Given the description of an element on the screen output the (x, y) to click on. 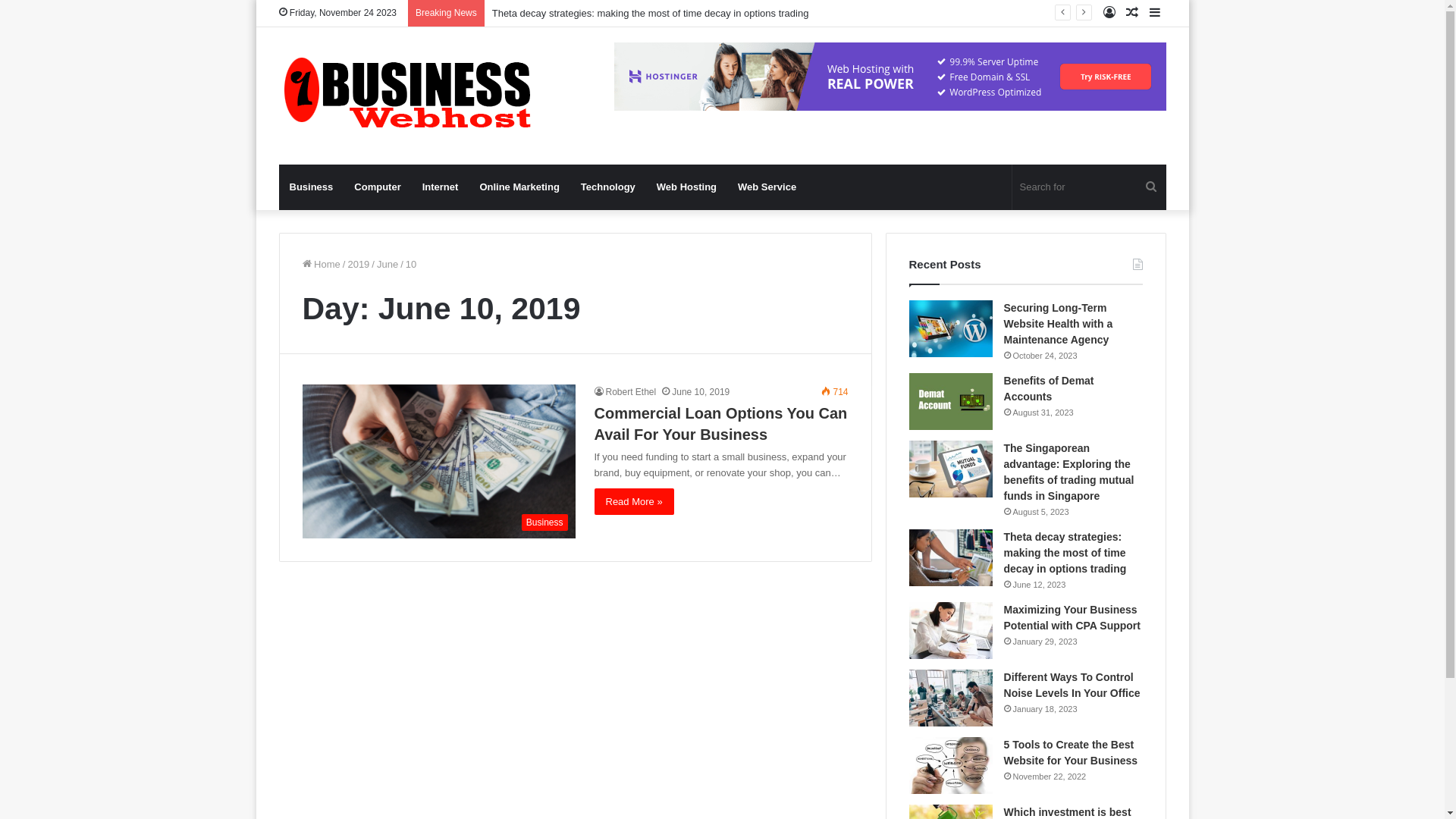
Web Service Element type: text (766, 187)
Sidebar Element type: text (1154, 13)
Internet Element type: text (440, 187)
Web Hosting Element type: text (686, 187)
Business Element type: text (437, 461)
Search for Element type: text (1150, 187)
5 Tools to Create the Best Website for Your Business Element type: text (1071, 752)
Different Ways To Control Noise Levels In Your Office Element type: text (1072, 685)
Home Element type: text (320, 263)
Robert Ethel Element type: text (625, 391)
Maximizing Your Business Potential with CPA Support Element type: text (1072, 617)
1 Business Web Host - It Consulting Services Uses Element type: hover (406, 95)
Random Article Element type: text (1131, 13)
Search for Element type: hover (1088, 187)
Commercial Loan Options You Can Avail For Your Business Element type: text (720, 423)
Business Element type: text (311, 187)
Log In Element type: text (1109, 13)
2019 Element type: text (358, 263)
June Element type: text (387, 263)
Securing Long-Term Website Health with a Maintenance Agency Element type: text (1058, 323)
Technology Element type: text (608, 187)
Online Marketing Element type: text (518, 187)
Computer Element type: text (377, 187)
